Given the description of an element on the screen output the (x, y) to click on. 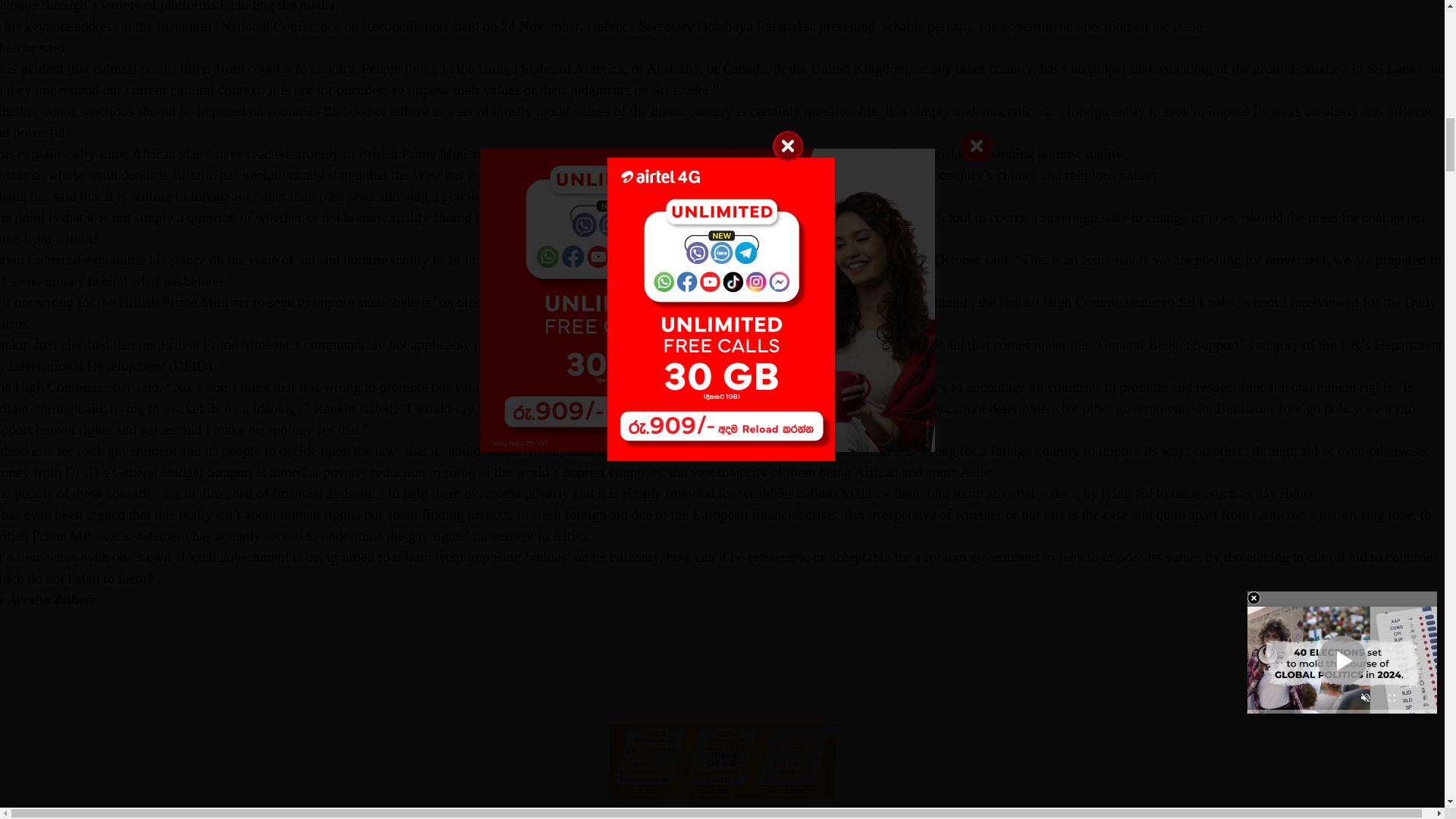
3rd party ad content (721, 724)
